Given the description of an element on the screen output the (x, y) to click on. 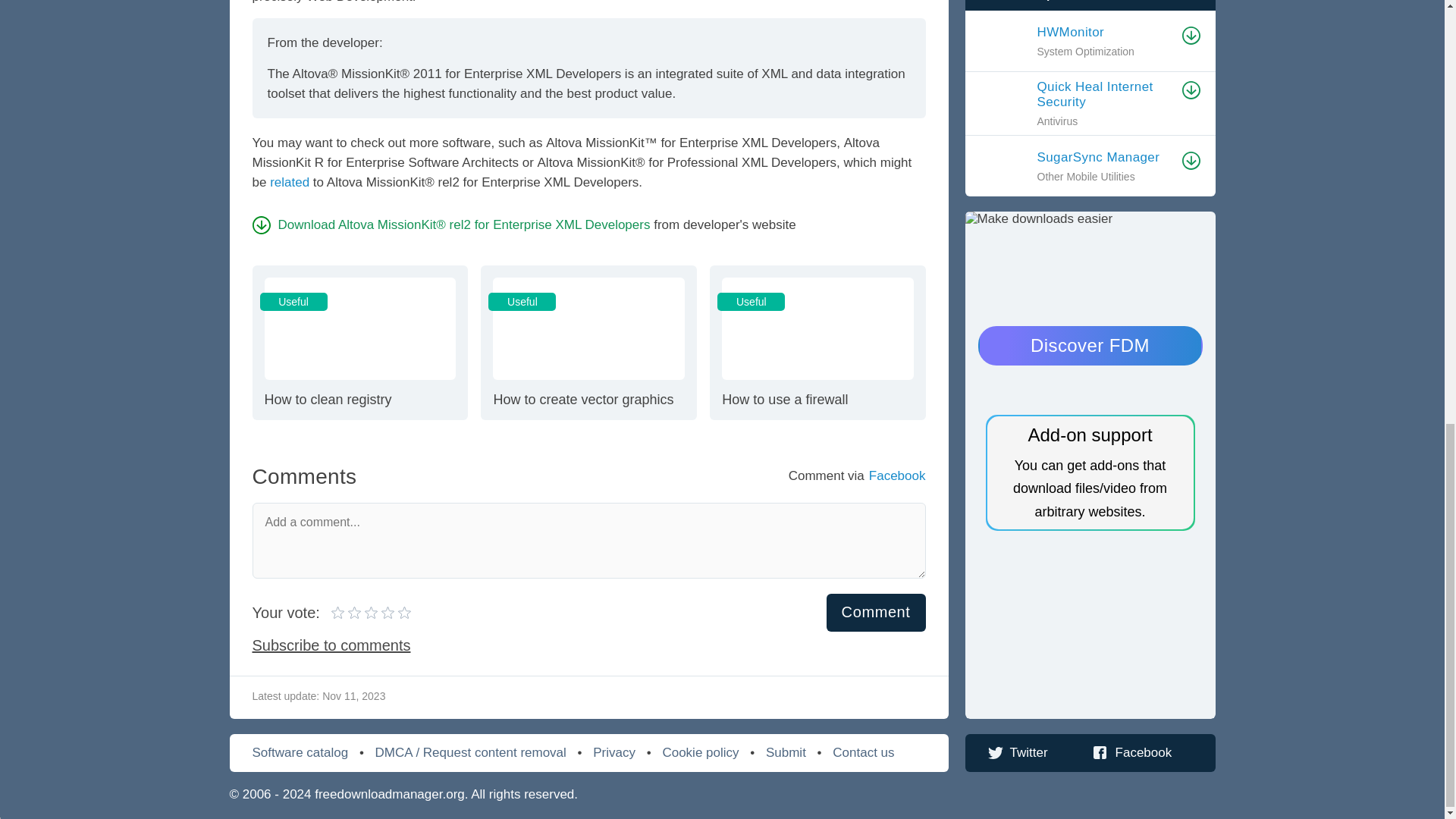
related (288, 182)
5 (370, 612)
Comment (876, 611)
3 (817, 342)
2 (355, 612)
HWMonitor (359, 342)
4 (346, 612)
1 (1104, 31)
Comment (363, 612)
